Given the description of an element on the screen output the (x, y) to click on. 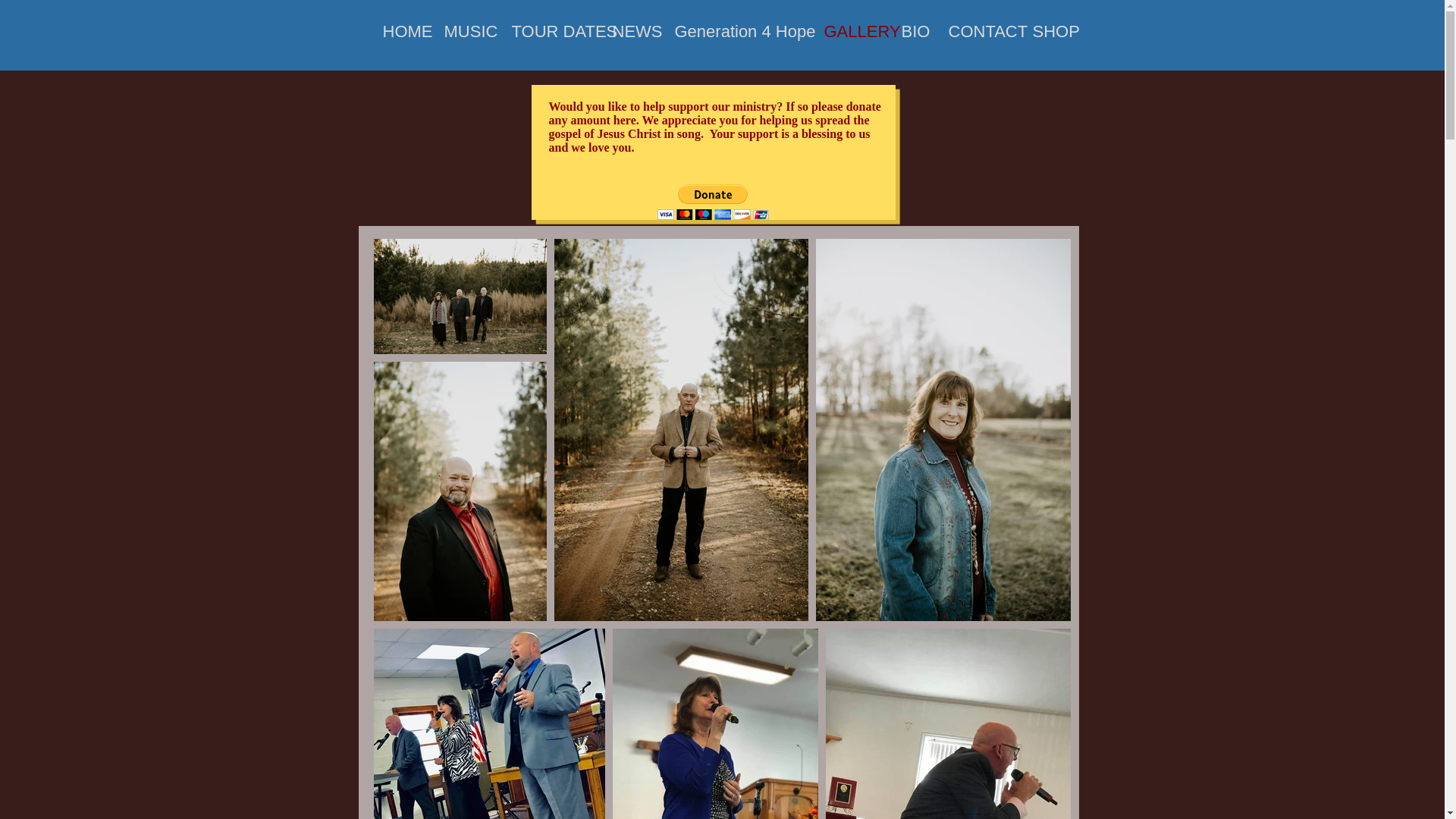
GALLERY (849, 31)
CONTACT (978, 31)
Generation 4 Hope (737, 31)
TOUR DATES (549, 31)
HOME (399, 31)
MUSIC (465, 31)
NEWS (630, 31)
SHOP (1050, 31)
BIO (912, 31)
